Given the description of an element on the screen output the (x, y) to click on. 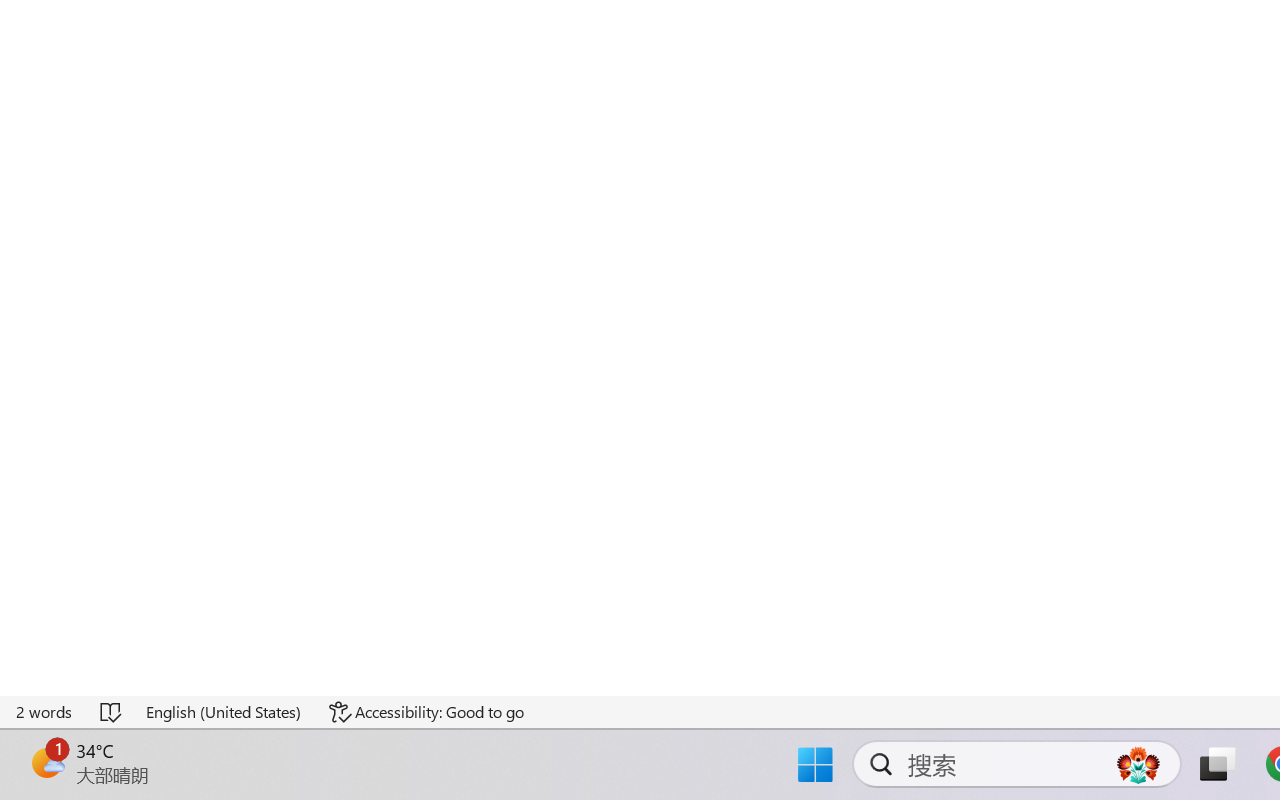
Accessibility Checker Accessibility: Good to go (426, 712)
AutomationID: DynamicSearchBoxGleamImage (1138, 764)
Spelling and Grammar Check No Errors (112, 712)
Language English (United States) (224, 712)
Word Count 2 words (45, 712)
AutomationID: BadgeAnchorLargeTicker (46, 762)
